Given the description of an element on the screen output the (x, y) to click on. 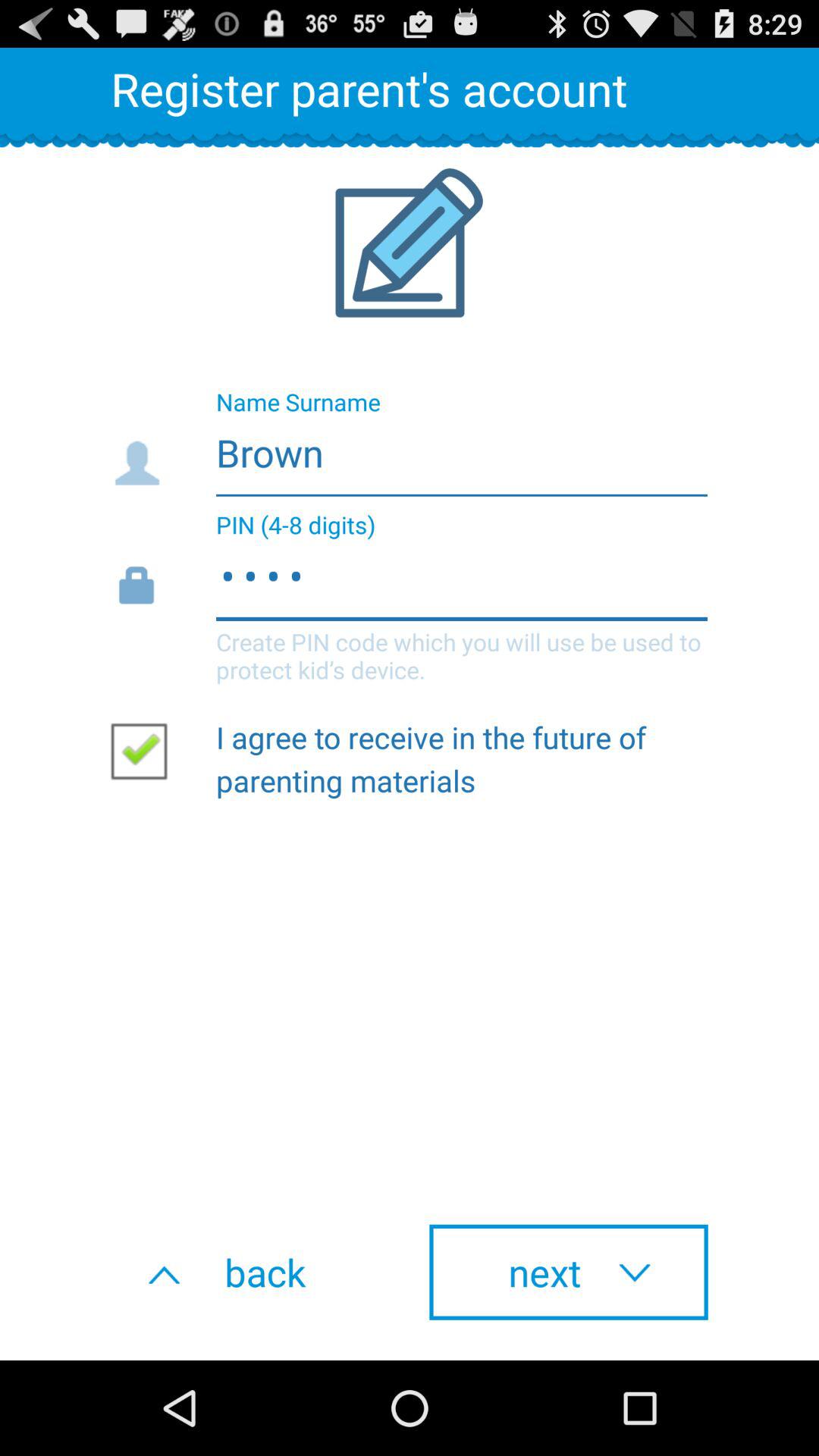
launch icon above the 1234 item (408, 448)
